Given the description of an element on the screen output the (x, y) to click on. 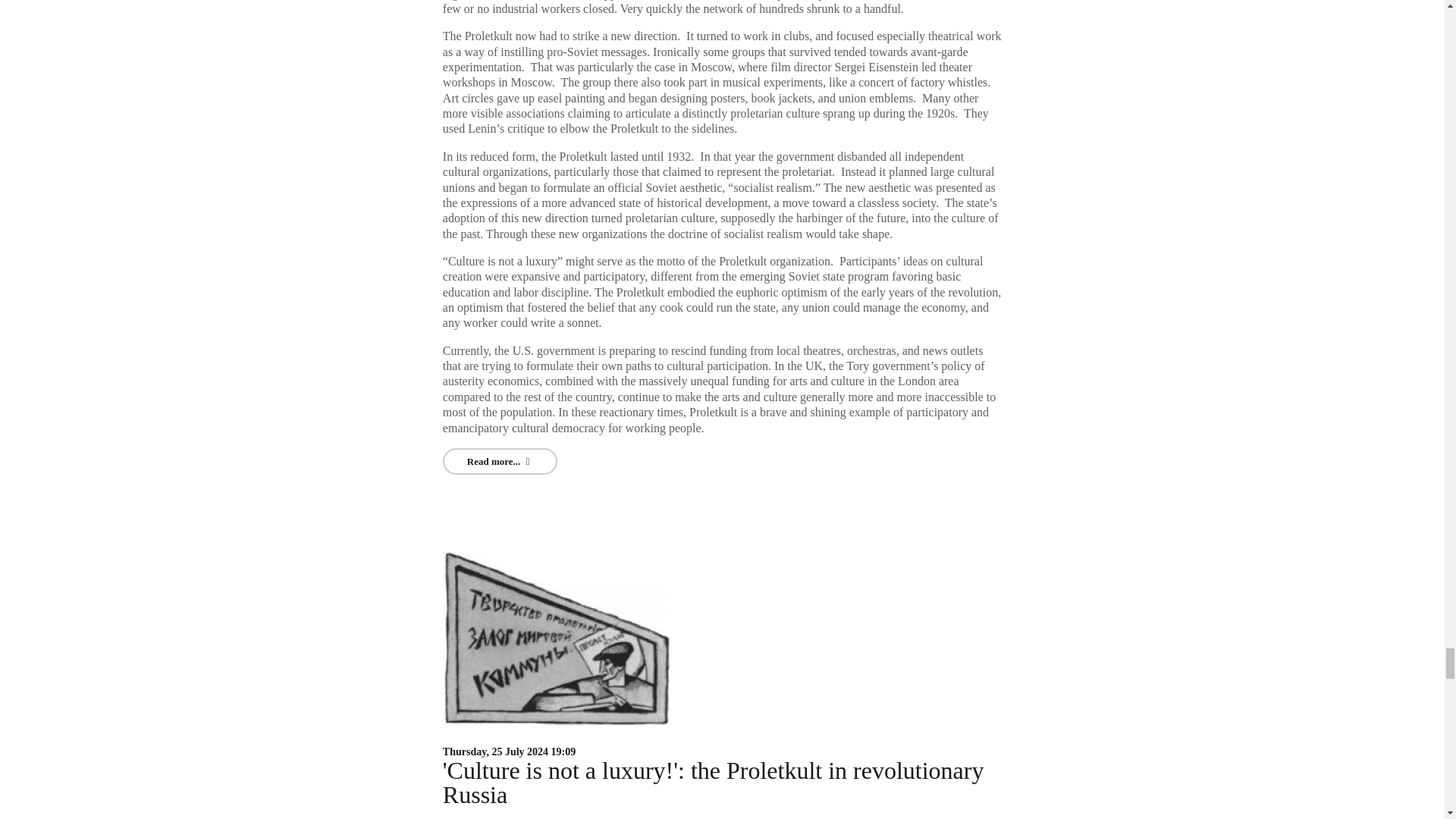
Proletkult banner (555, 636)
